Given the description of an element on the screen output the (x, y) to click on. 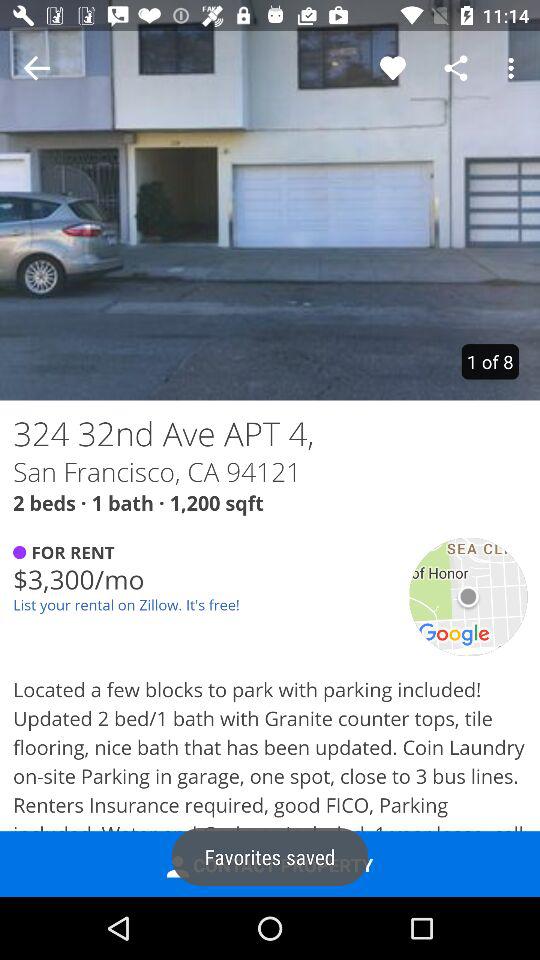
no bounding (36, 67)
select the icon beside heart symbol (456, 68)
click three dot icon in top right corner (514, 68)
